Given the description of an element on the screen output the (x, y) to click on. 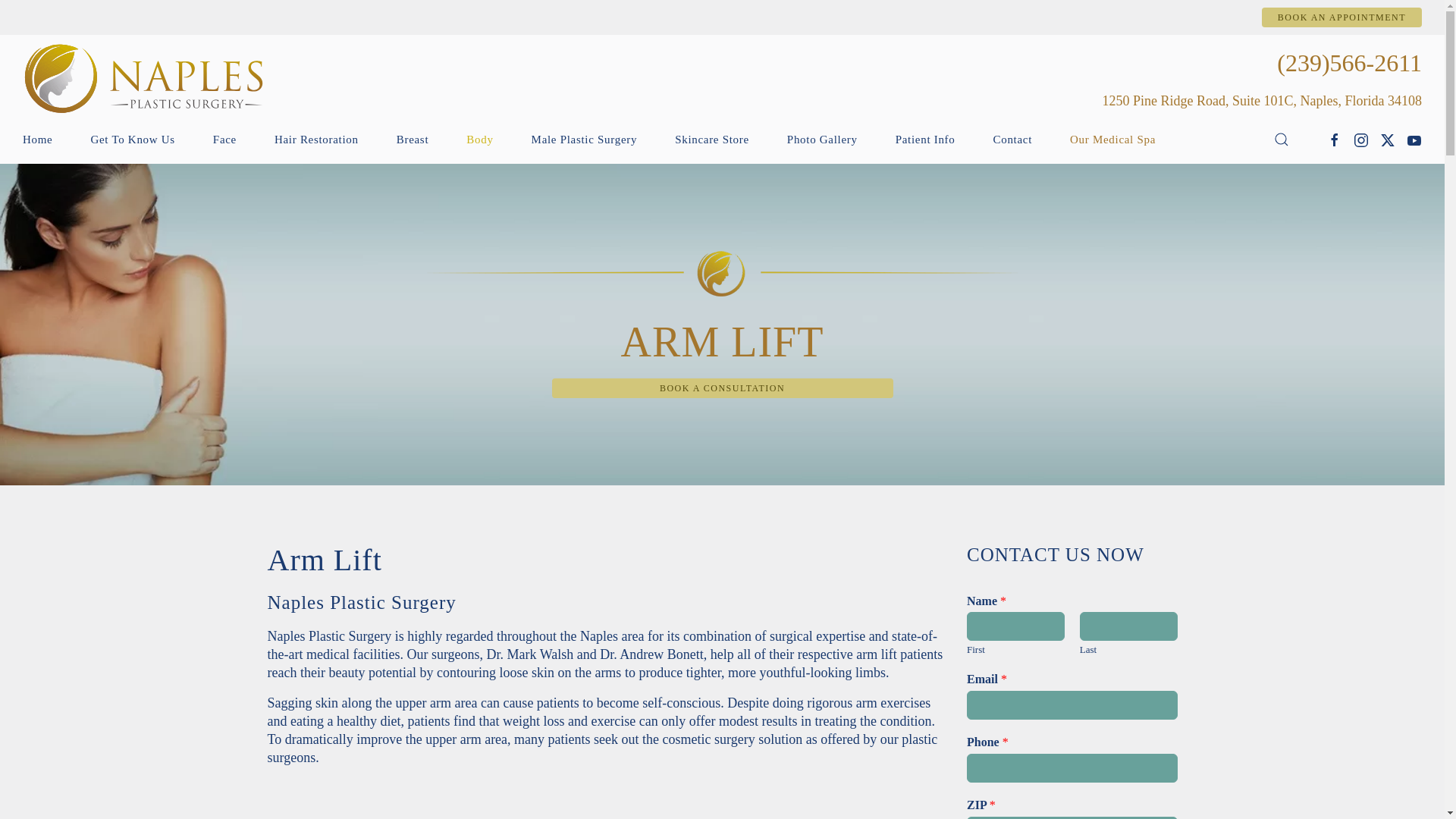
Arm Lift (604, 560)
Arm Lift at Naples Plastic Surgery in Naples Florida (604, 798)
Naples Plastic Surgery (604, 602)
CONTACT US NOW (1071, 555)
Book an Appointment (1342, 17)
BOOK AN APPOINTMENT (1342, 17)
